Given the description of an element on the screen output the (x, y) to click on. 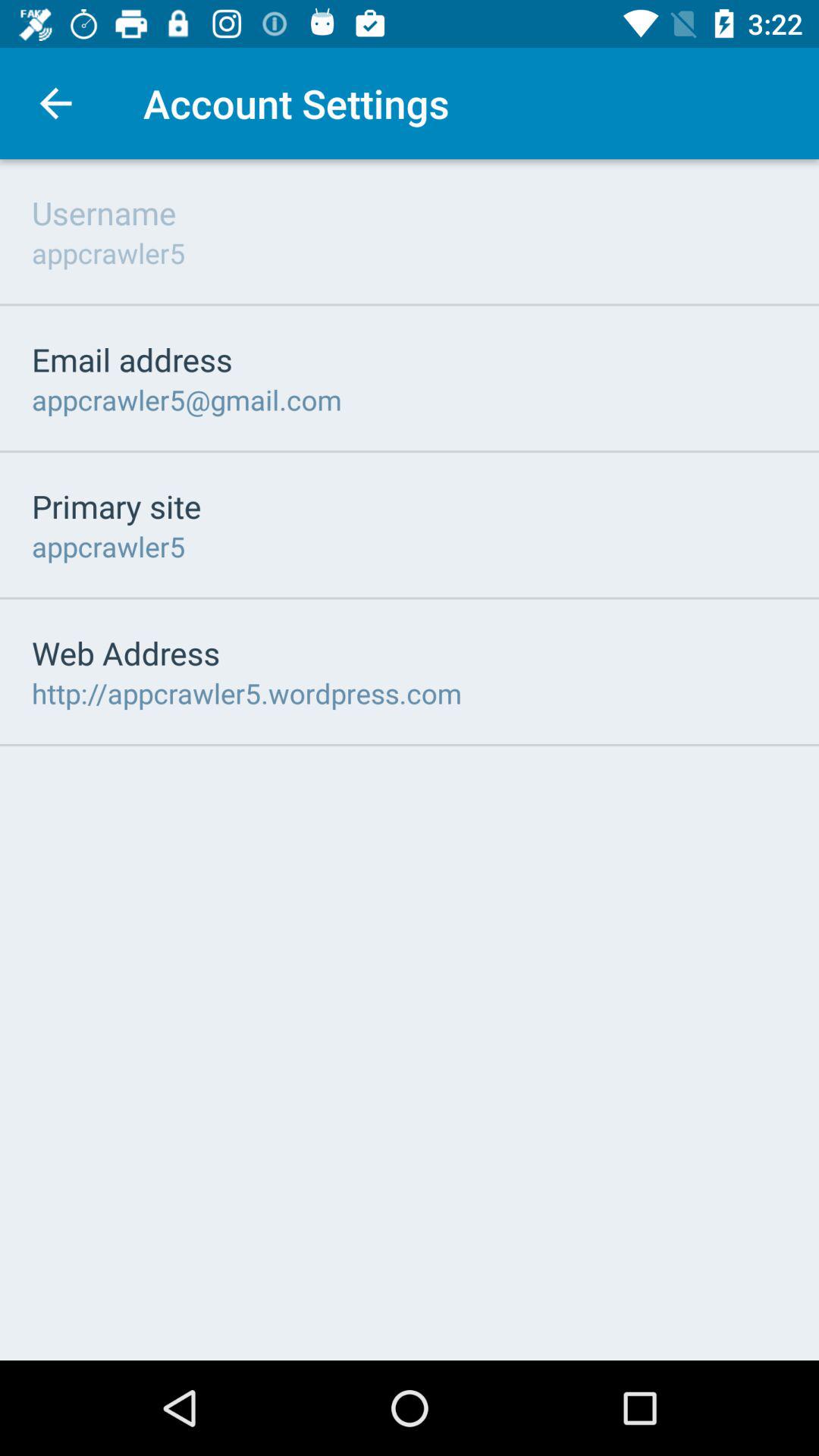
turn off the item above http appcrawler5 wordpress item (125, 652)
